Given the description of an element on the screen output the (x, y) to click on. 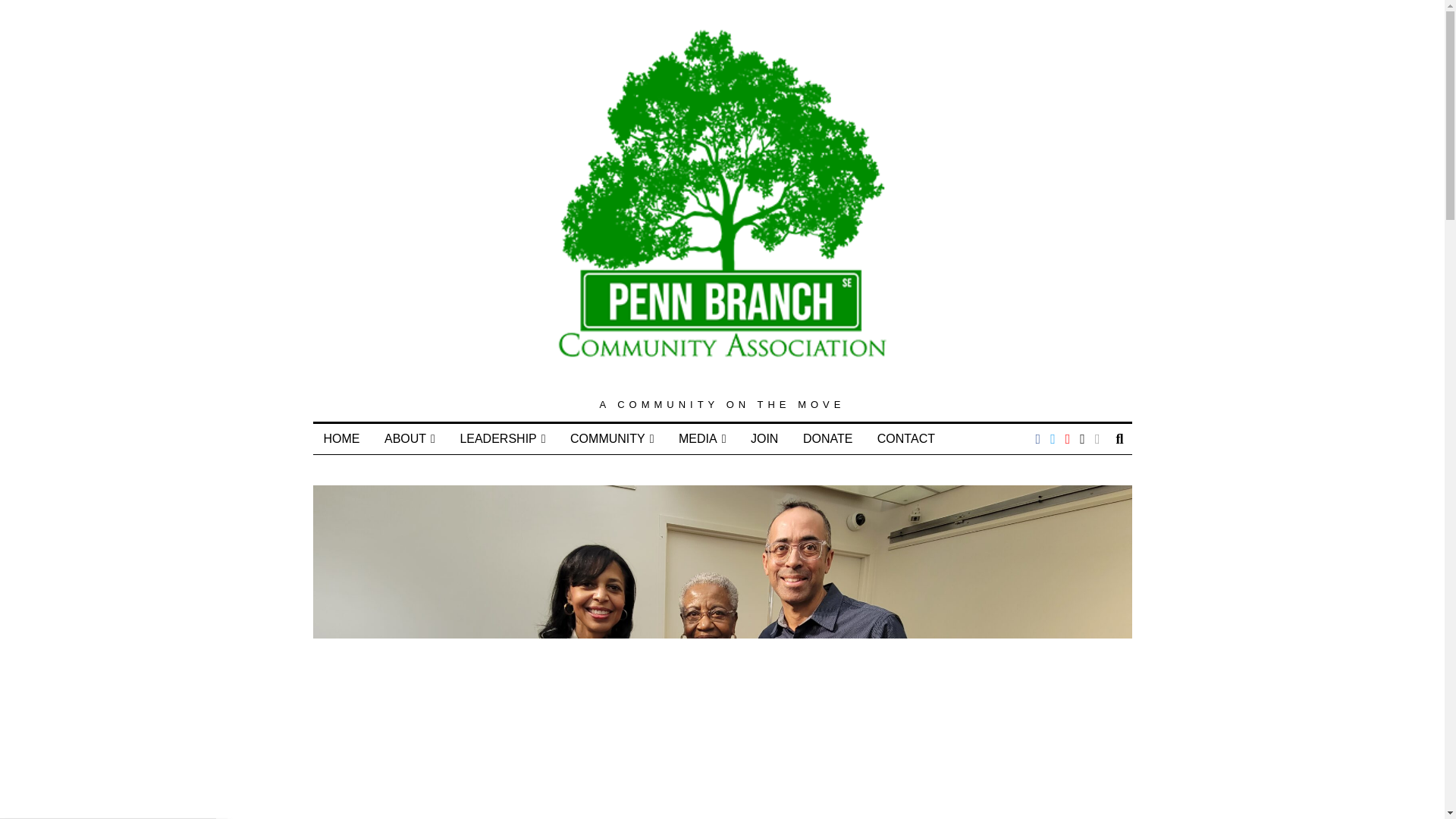
JOIN (764, 439)
ABOUT (409, 439)
CONTACT (905, 439)
COMMUNITY (612, 439)
MEDIA (702, 439)
HOME (341, 439)
LEADERSHIP (502, 439)
DONATE (827, 439)
